Given the description of an element on the screen output the (x, y) to click on. 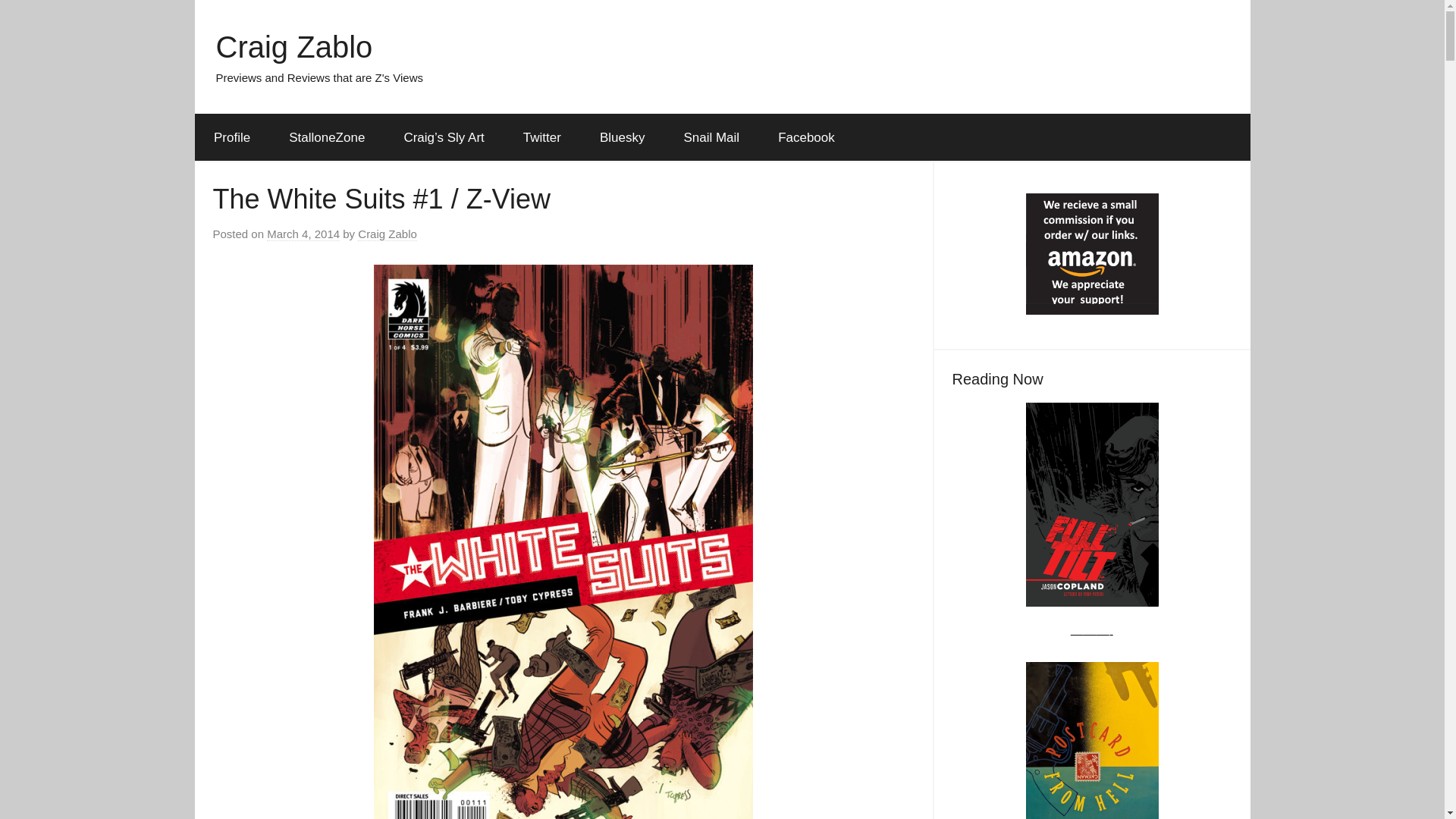
Craig Zablo (293, 46)
Profile (231, 137)
View all posts by Craig Zablo (387, 233)
StalloneZone (326, 137)
Twitter (541, 137)
Facebook (806, 137)
March 4, 2014 (302, 233)
Craig Zablo (387, 233)
Snail Mail (710, 137)
Bluesky (621, 137)
